Given the description of an element on the screen output the (x, y) to click on. 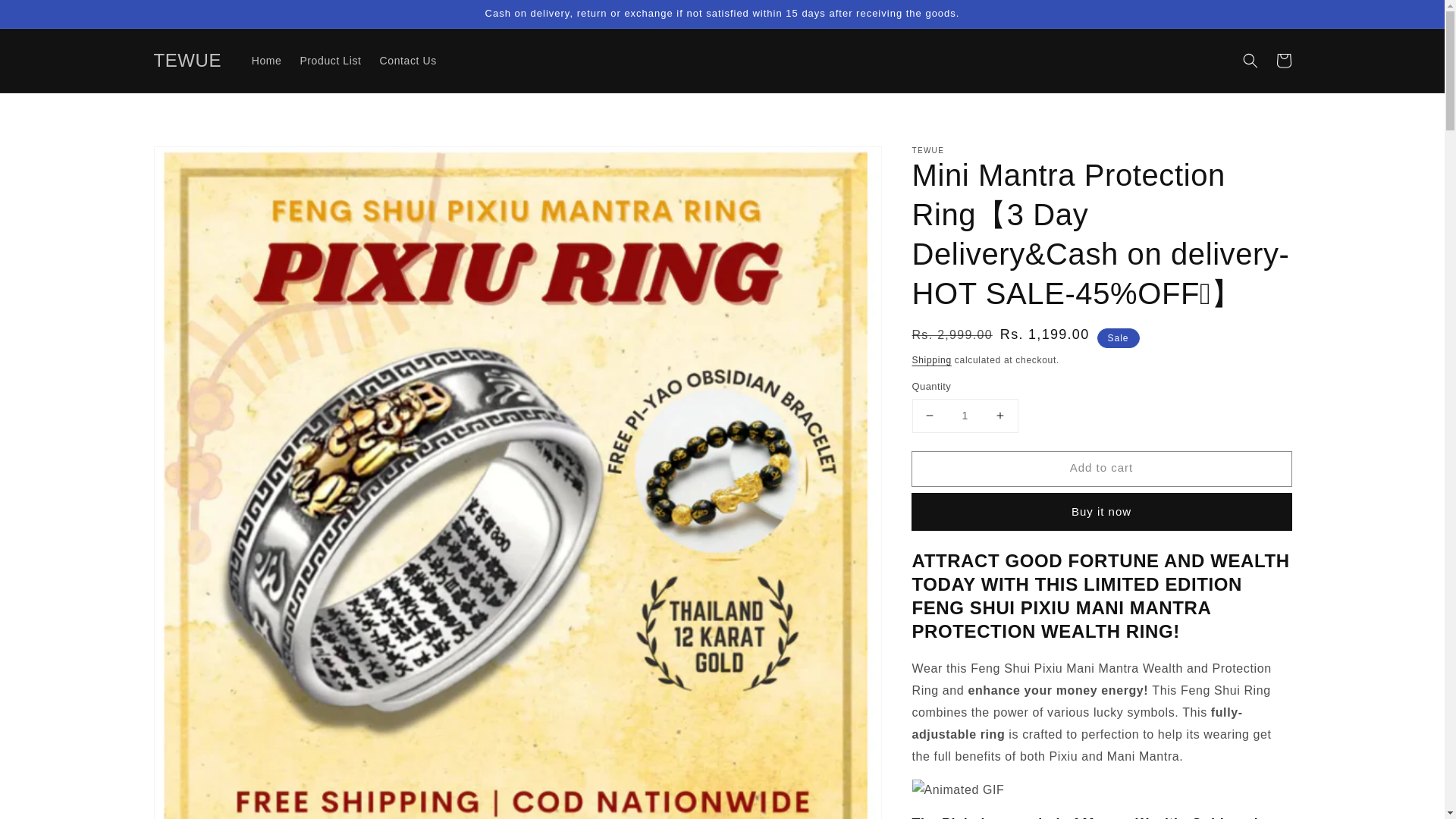
Product List (329, 60)
TEWUE (187, 60)
Shipping (930, 359)
Cart (1283, 60)
Buy it now (1100, 511)
1 (964, 415)
Skip to content (45, 16)
Add to cart (1100, 469)
Home (267, 60)
Skip to product information (198, 162)
Contact Us (408, 60)
